Given the description of an element on the screen output the (x, y) to click on. 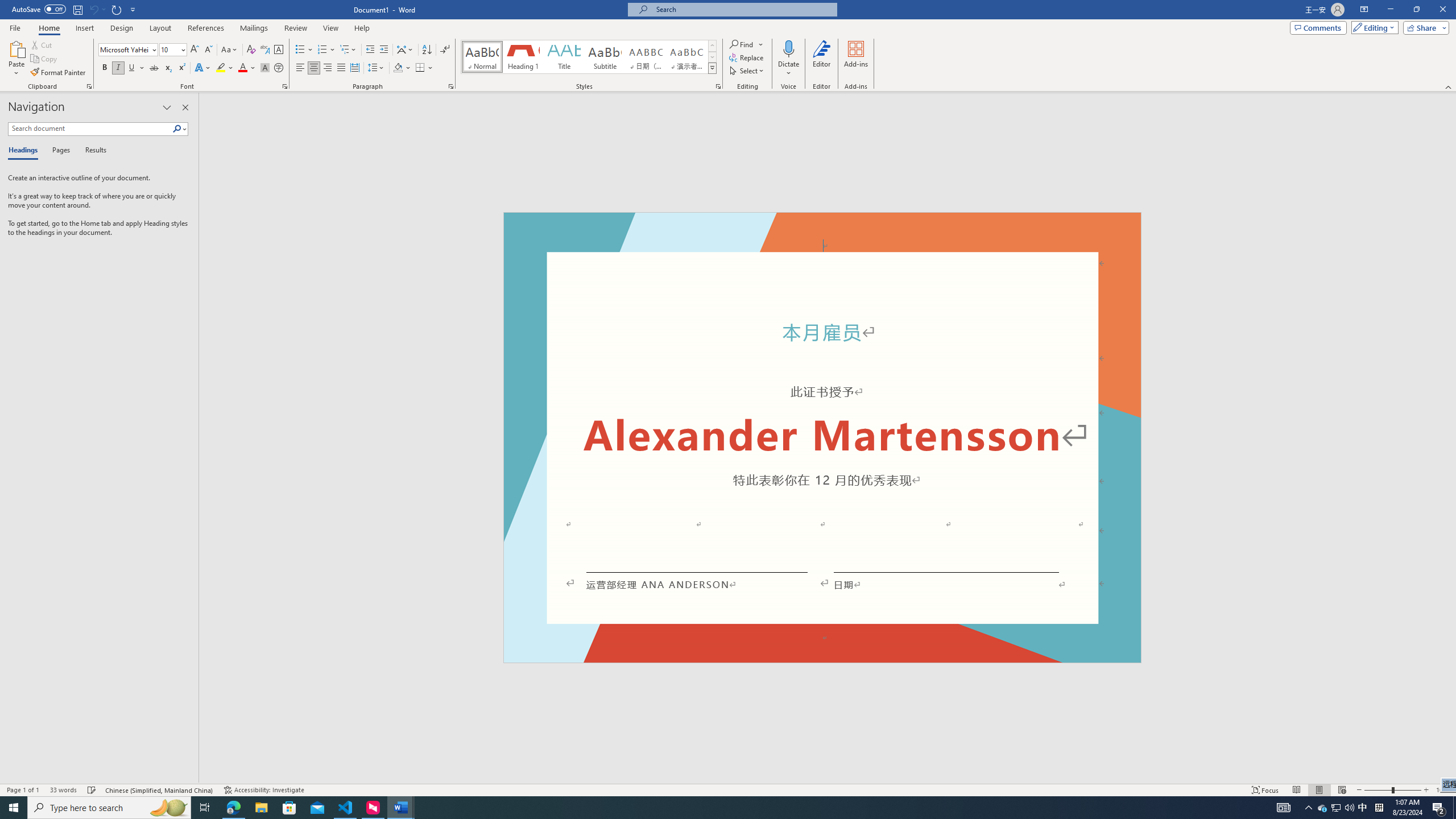
Decorative (822, 437)
